Given the description of an element on the screen output the (x, y) to click on. 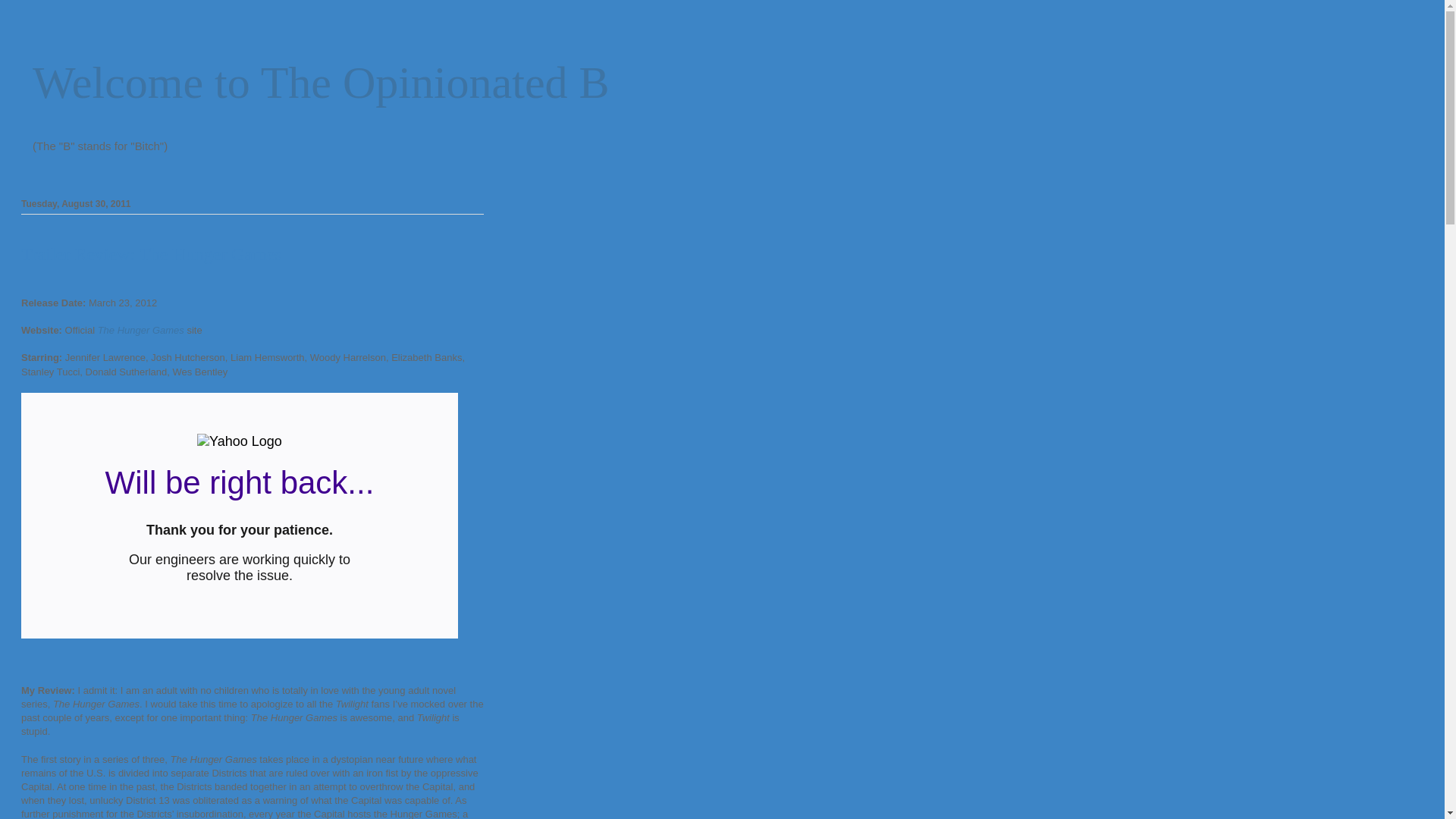
The Hunger Games (140, 329)
Welcome to The Opinionated B (321, 82)
